Given the description of an element on the screen output the (x, y) to click on. 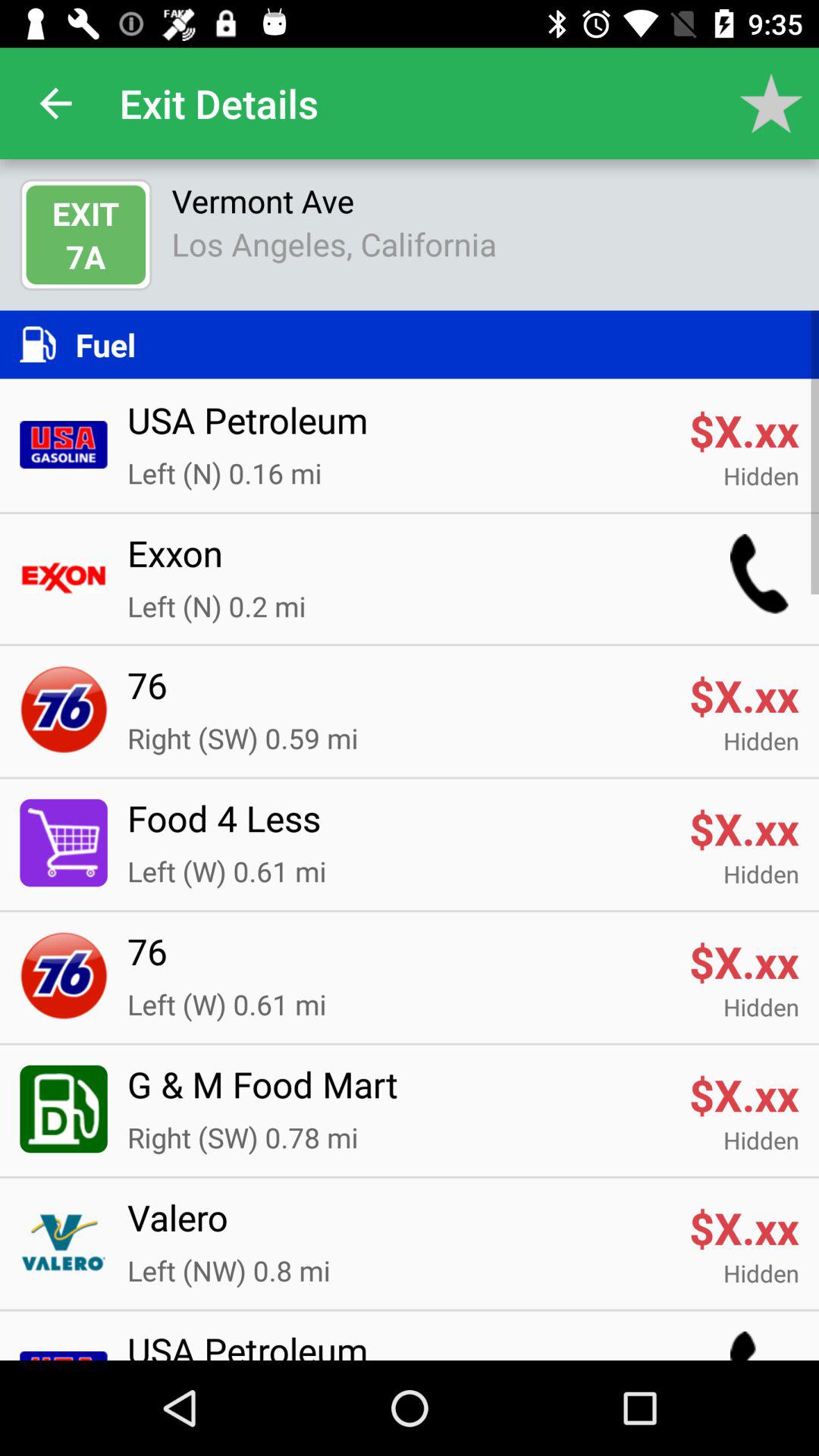
select the item to the left of exit details item (55, 103)
